Given the description of an element on the screen output the (x, y) to click on. 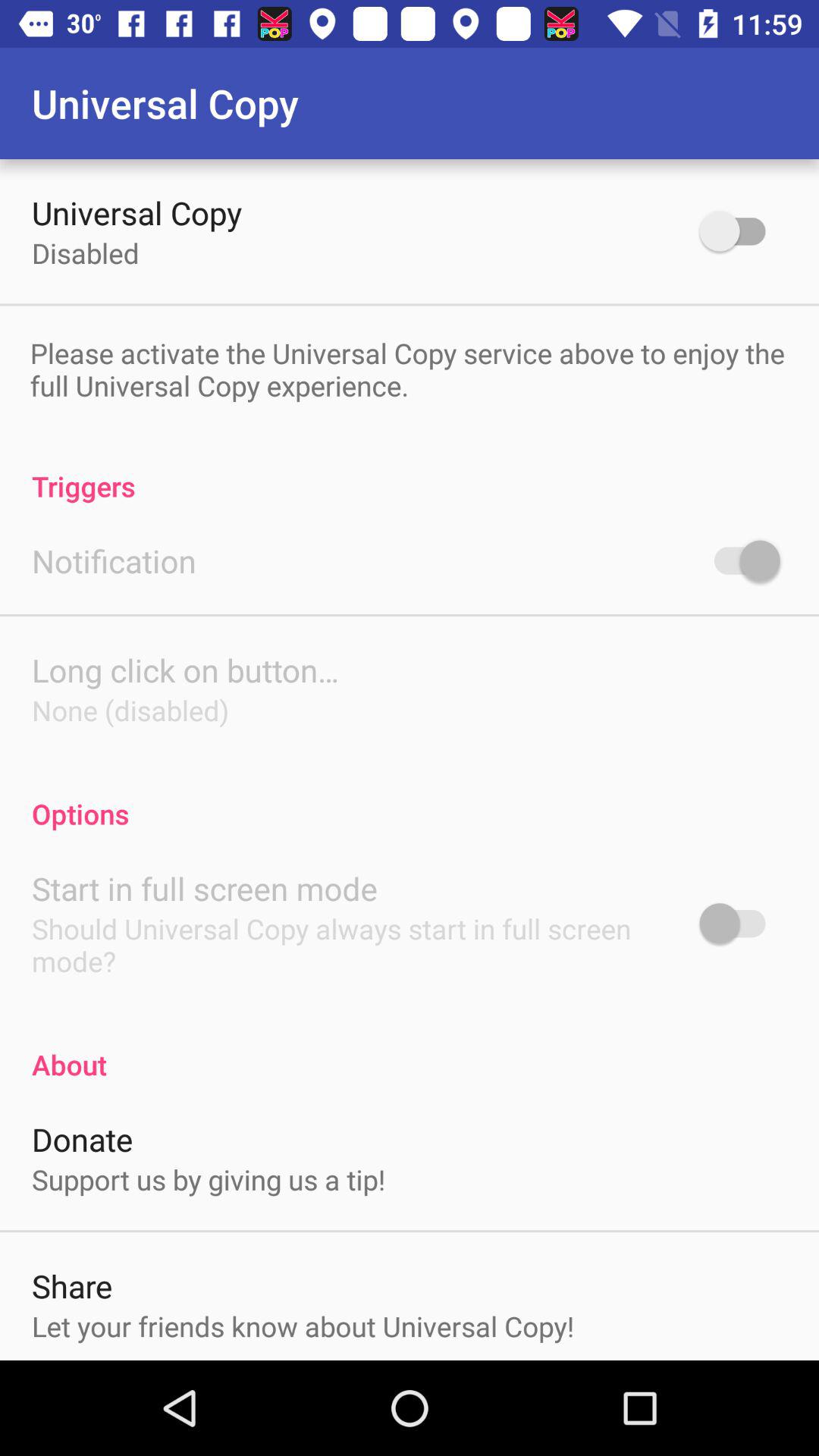
click item below the support us by item (71, 1285)
